Given the description of an element on the screen output the (x, y) to click on. 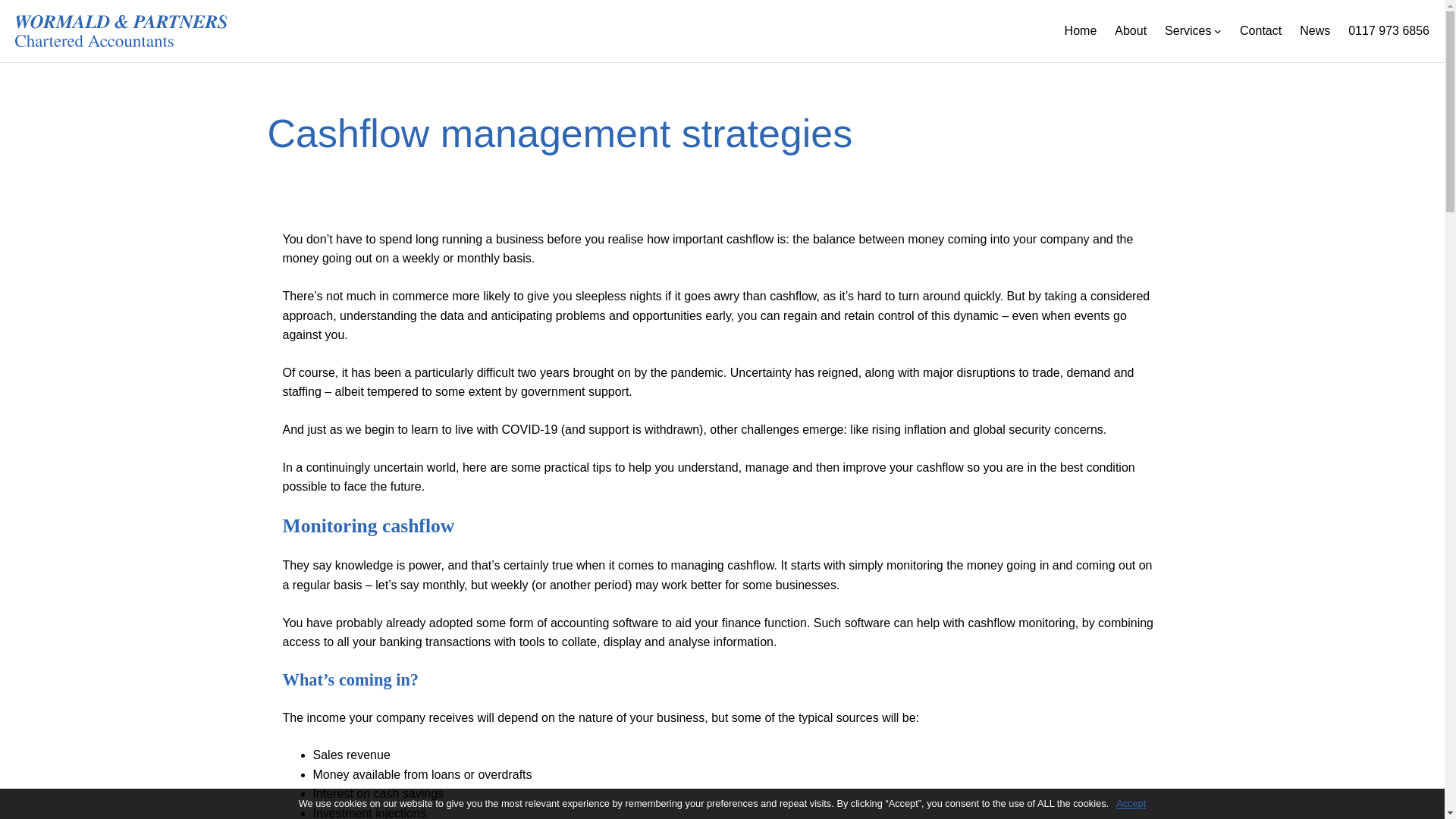
Accept (1130, 803)
0117 973 6856 (1388, 30)
Home (1080, 30)
About (1131, 30)
News (1315, 30)
Contact (1260, 30)
Accept and close (1130, 803)
Services (1187, 30)
